Given the description of an element on the screen output the (x, y) to click on. 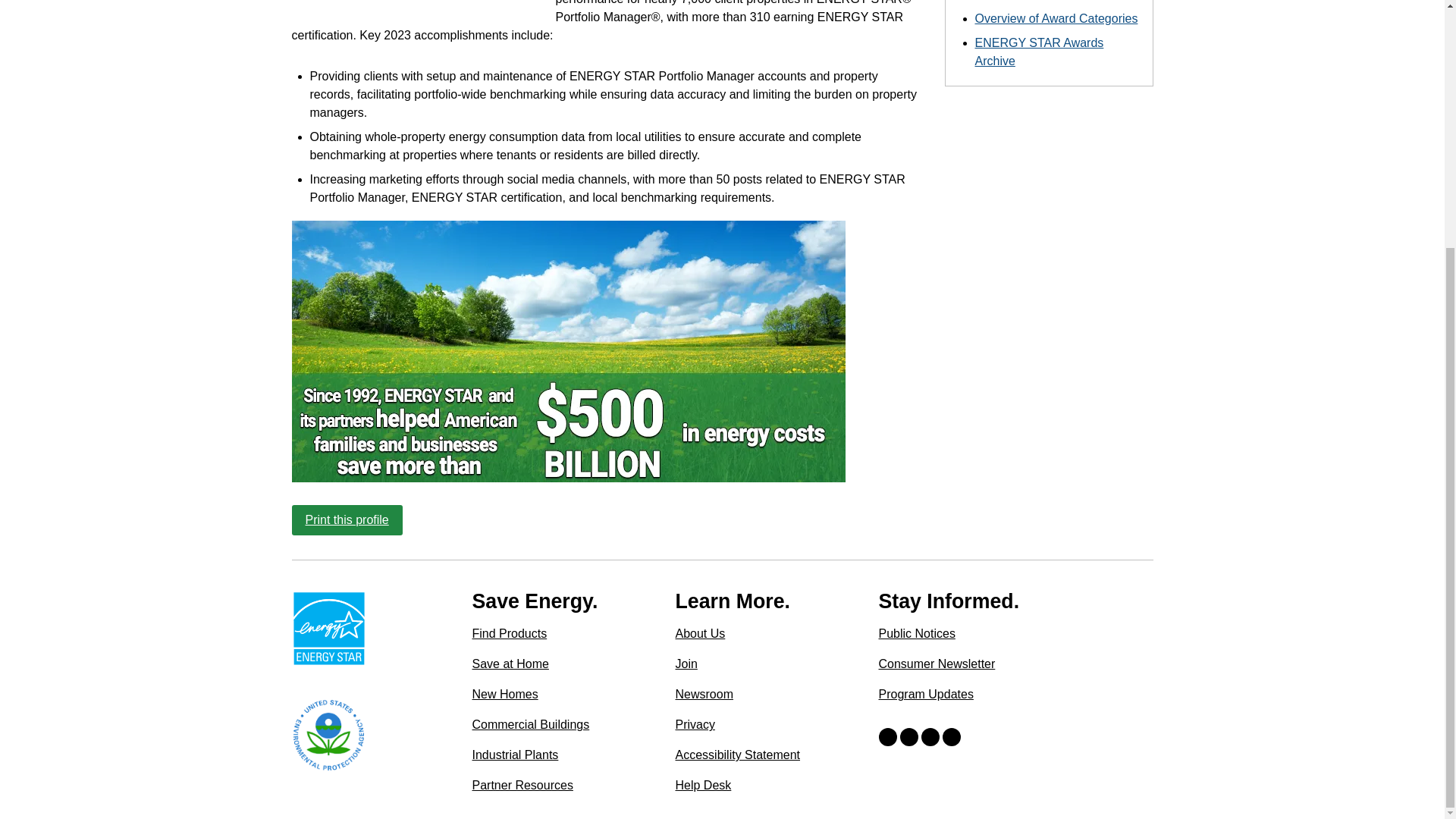
Home (328, 628)
